Given the description of an element on the screen output the (x, y) to click on. 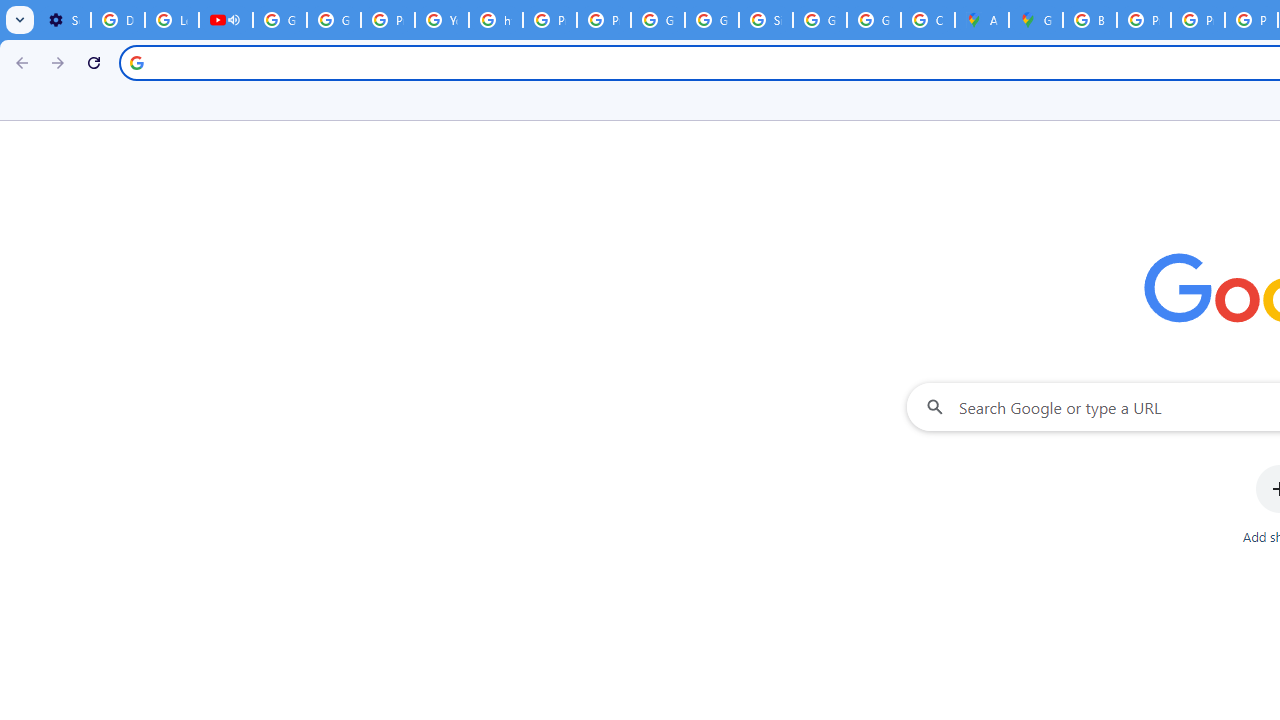
Google Maps (1035, 20)
Privacy Help Center - Policies Help (387, 20)
YouTube (441, 20)
Create your Google Account (927, 20)
